Given the description of an element on the screen output the (x, y) to click on. 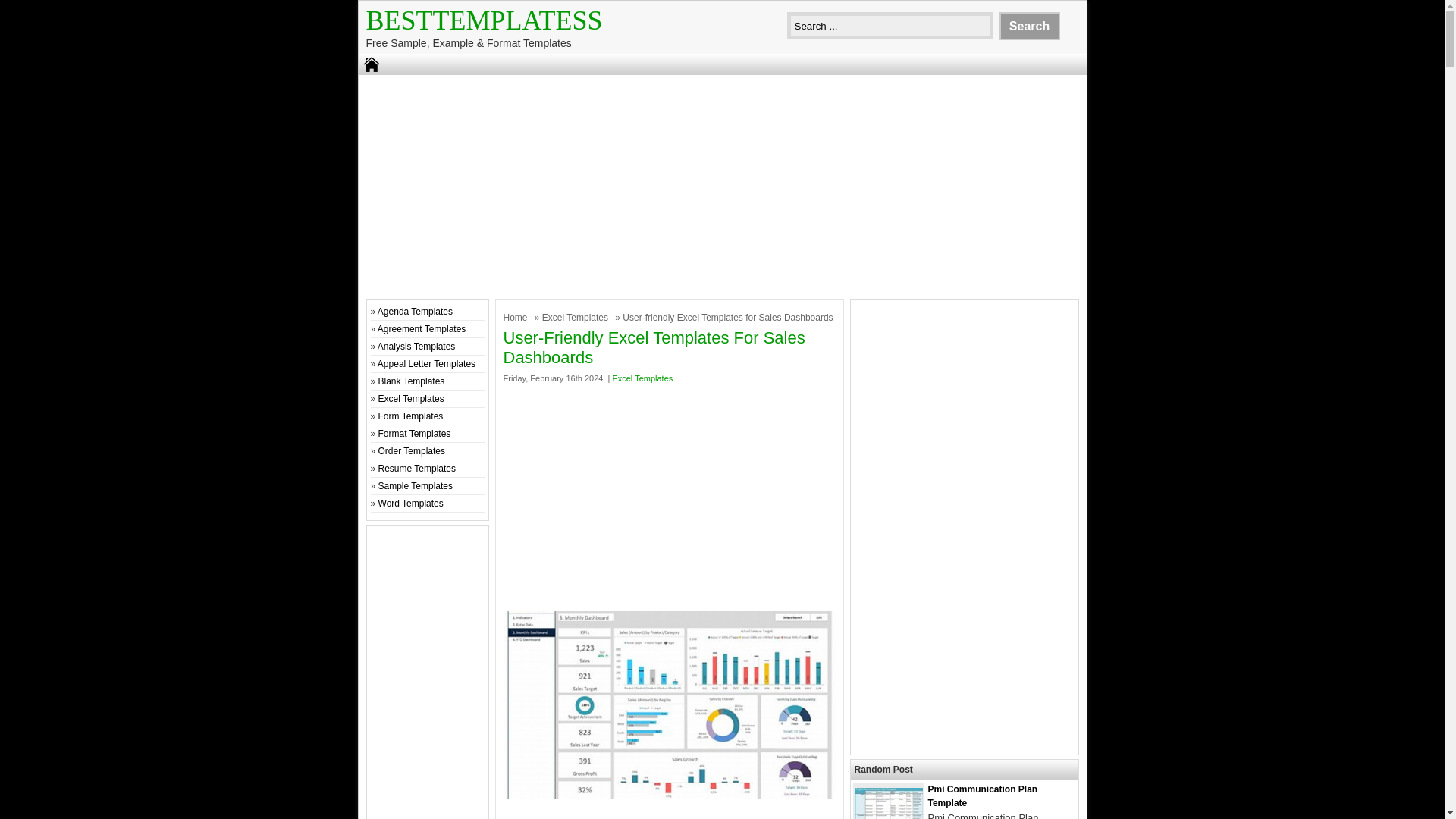
BestTemplatess (483, 20)
Agenda Templates (414, 311)
Search ...  (889, 25)
Blank Templates (411, 380)
Excel Templates (576, 317)
Advertisement (669, 490)
Home (517, 317)
Resume Templates (417, 468)
Search (1028, 26)
Form Templates (411, 416)
